Given the description of an element on the screen output the (x, y) to click on. 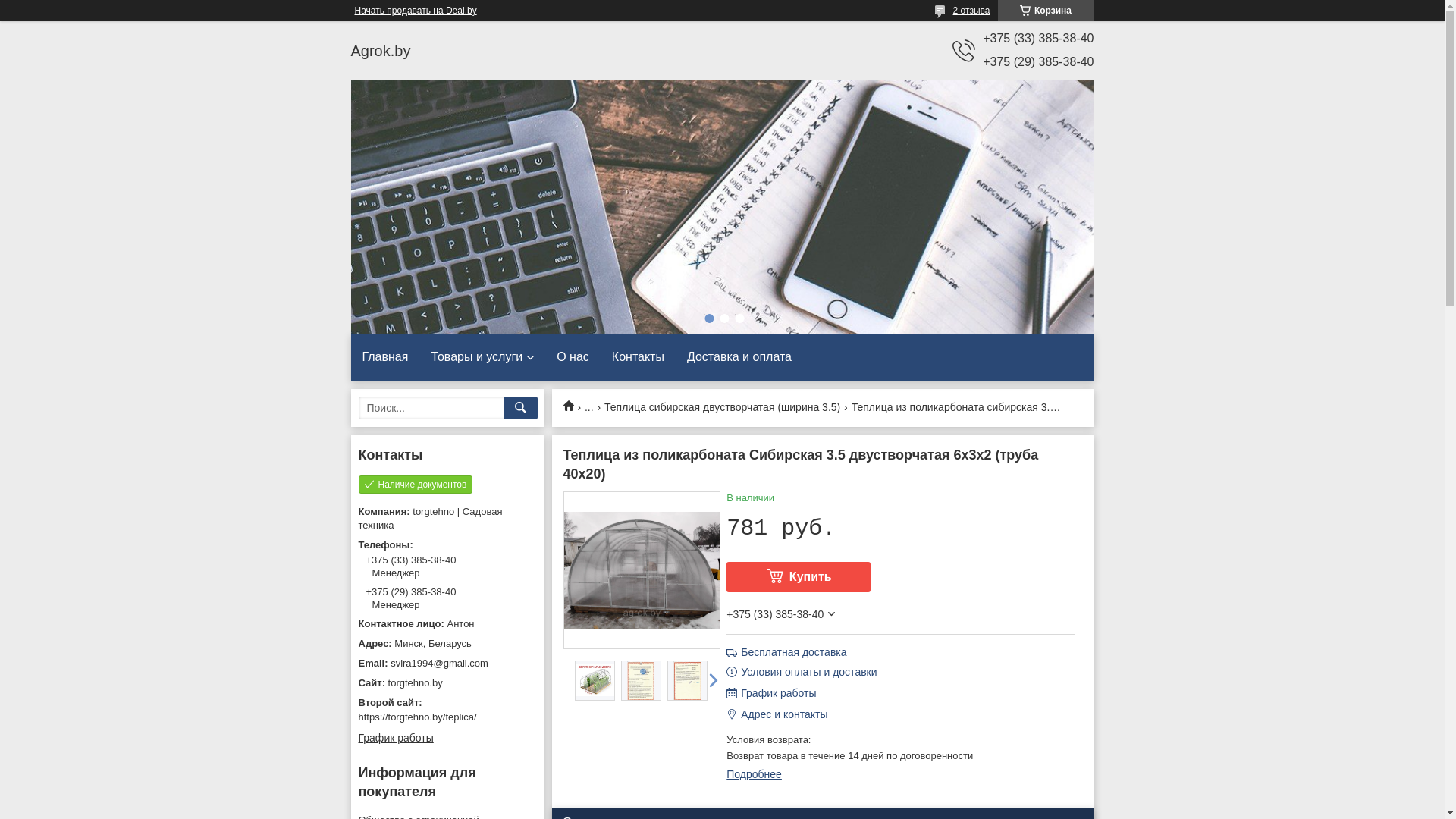
torgtehno.by Element type: text (446, 683)
https://torgtehno.by/teplica/ Element type: text (416, 716)
svira1994@gmail.com Element type: text (446, 663)
